Given the description of an element on the screen output the (x, y) to click on. 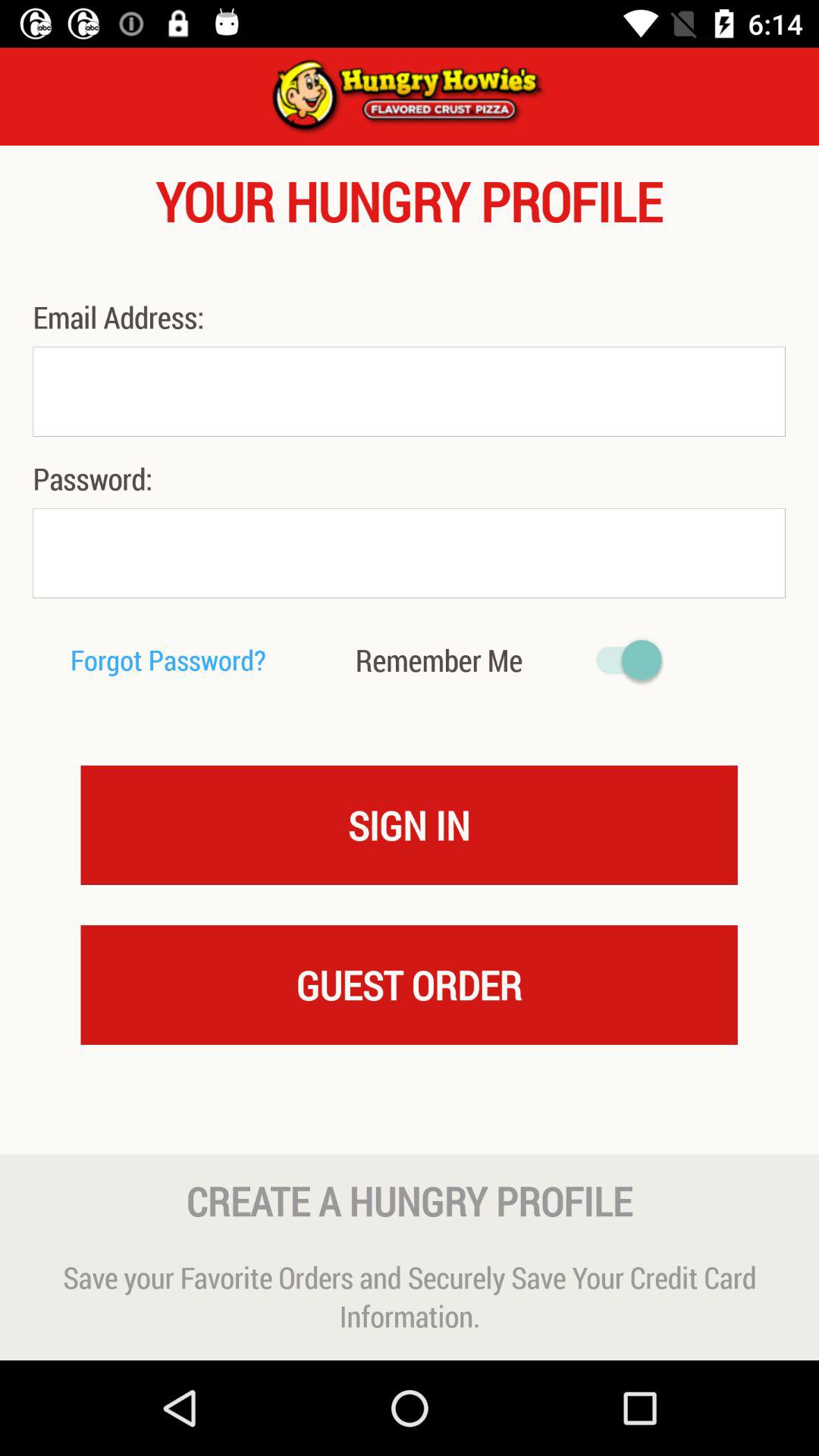
enter email address (408, 391)
